Given the description of an element on the screen output the (x, y) to click on. 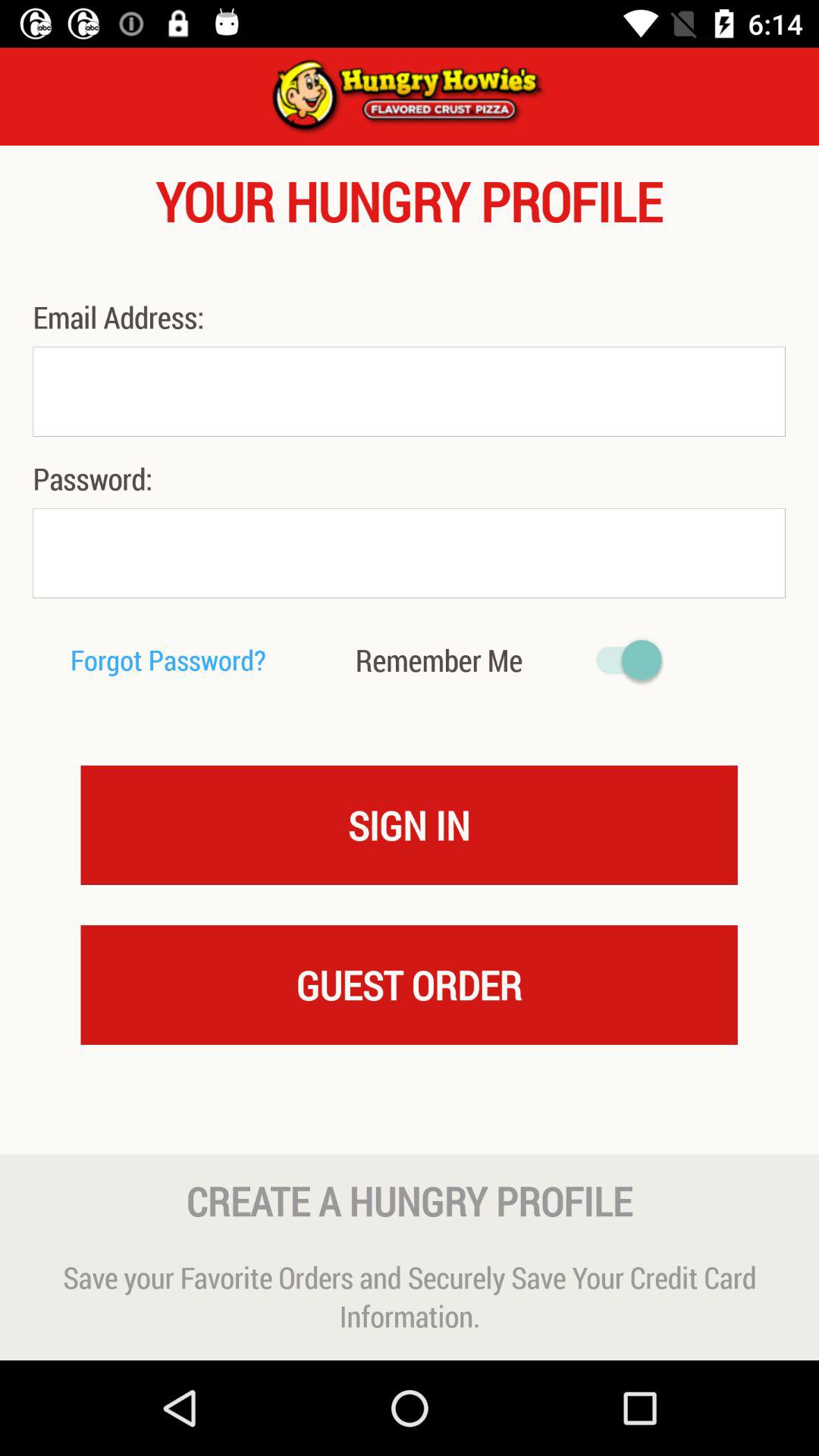
enter email address (408, 391)
